Given the description of an element on the screen output the (x, y) to click on. 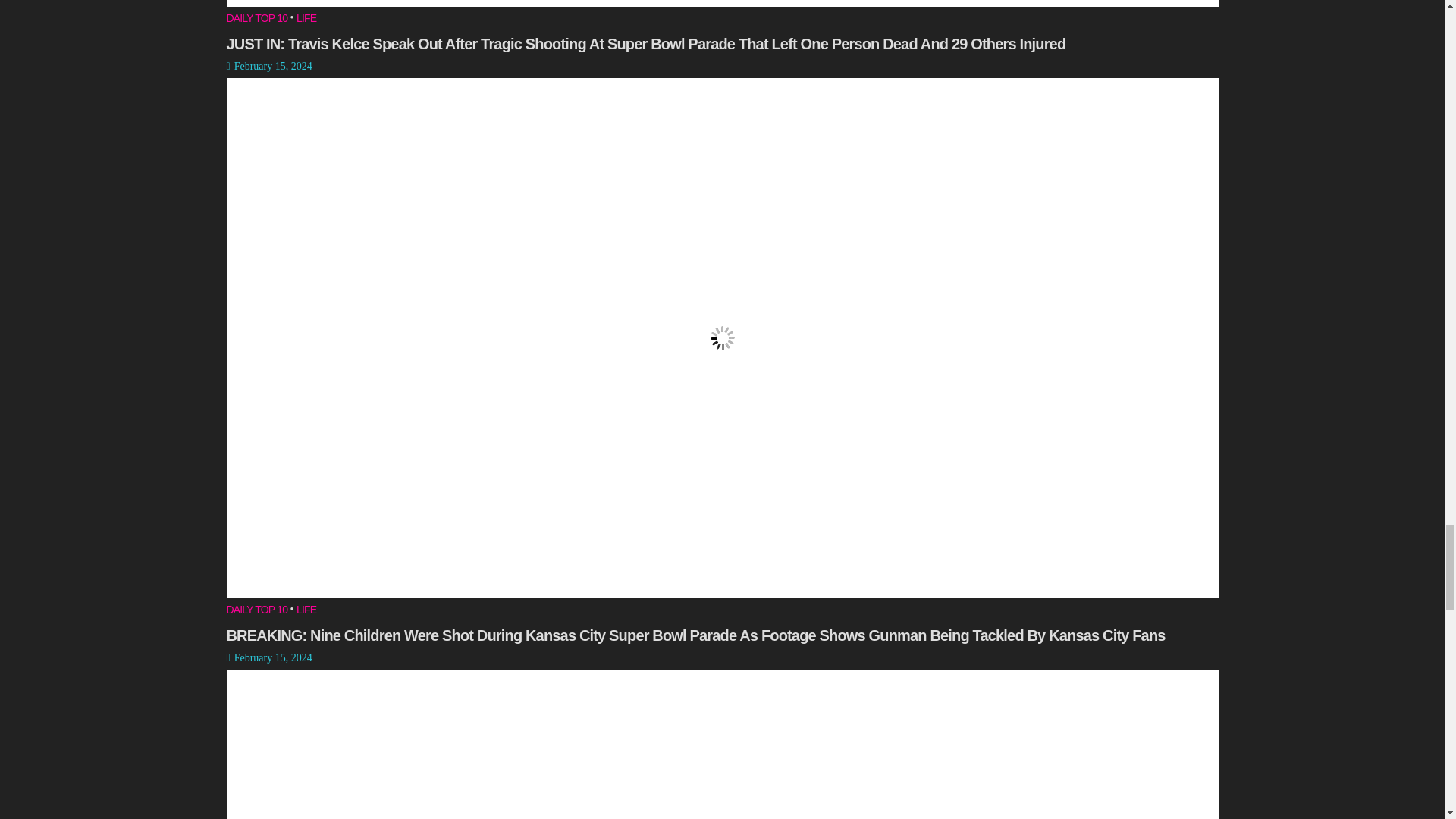
DAILY TOP 10 (255, 19)
